Given the description of an element on the screen output the (x, y) to click on. 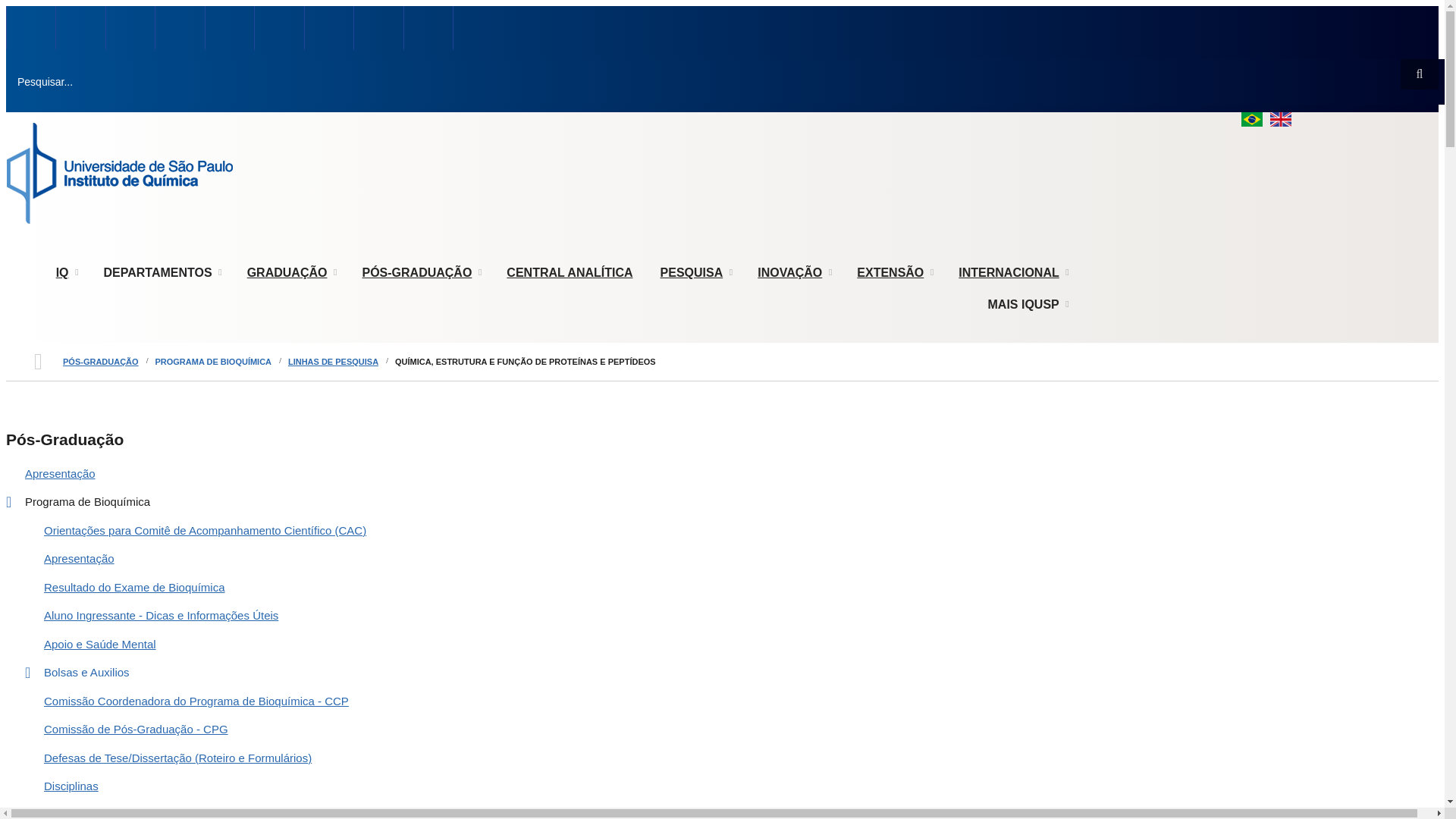
Help Desk Element type: hover (278, 28)
INTERNACIONAL Element type: text (1011, 272)
LINHAS DE PESQUISA Element type: text (333, 361)
Toggle high contrast Element type: text (56, 6)
Ouvidoria do IQUSP Element type: hover (229, 28)
Disciplinas Element type: text (714, 786)
MAIS IQUSP Element type: text (1027, 304)
Acessar a Intranet do Portal IQUSP Element type: hover (129, 28)
  Element type: text (79, 28)
  Element type: text (328, 28)
  Element type: text (178, 28)
Pessoal do IQUSP - Telefones e Contatos Element type: hover (79, 28)
  Element type: text (377, 28)
Logar no site do IQUSP Element type: hover (428, 28)
Bolsas e Auxilios Element type: text (714, 672)
IQ Element type: text (66, 272)
DEPARTAMENTOS Element type: text (161, 272)
  Element type: text (278, 28)
  Element type: text (129, 28)
  Element type: text (30, 28)
  Element type: text (229, 28)
  Element type: text (428, 28)
Acessar Webmail IQUSP Element type: hover (377, 28)
PESQUISA Element type: text (695, 272)
Home Page do IQUSP Element type: hover (30, 28)
